Given the description of an element on the screen output the (x, y) to click on. 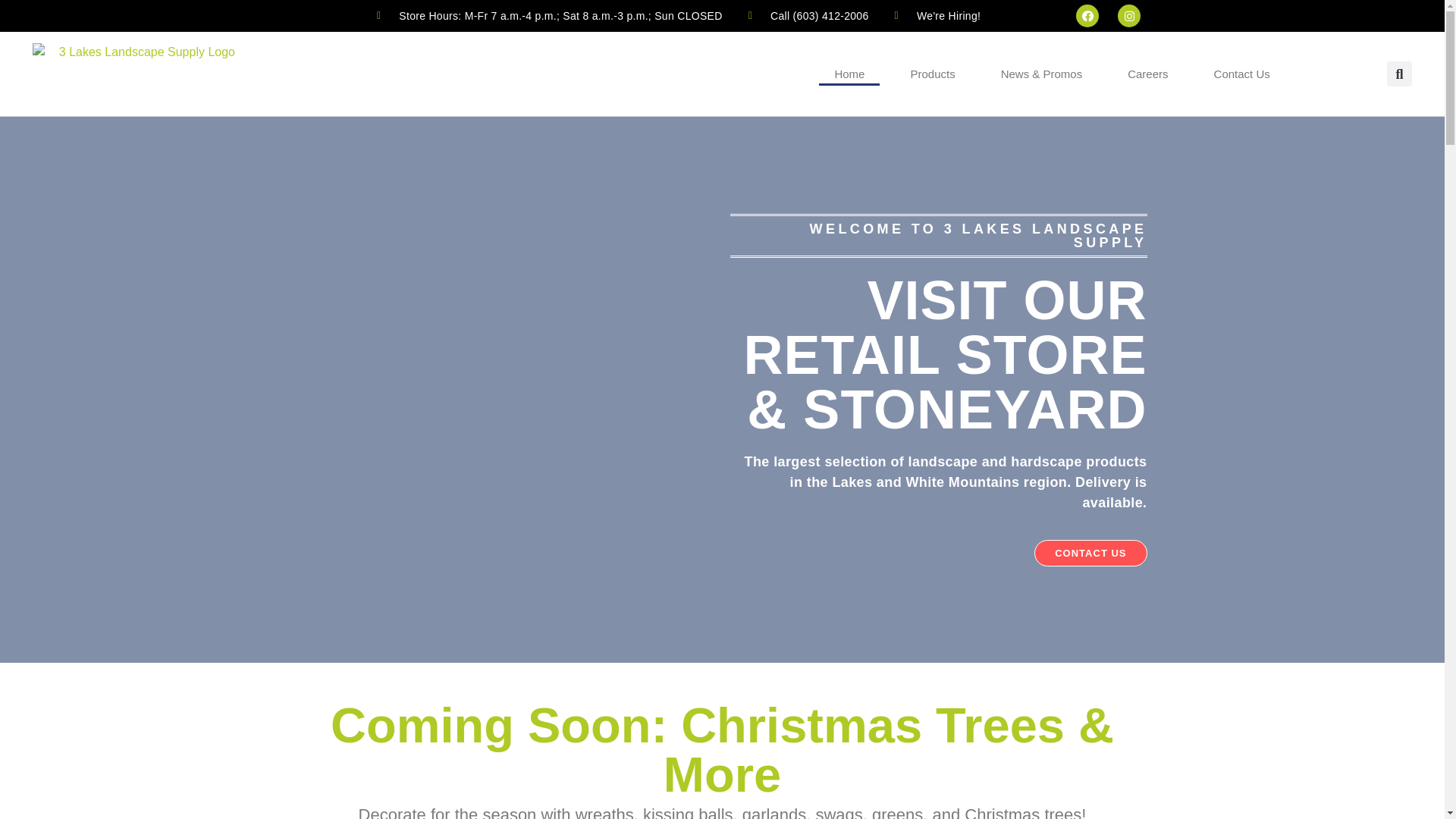
Call (603) 412-2006 Element type: text (806, 15)
News & Promos Element type: text (1041, 73)
Careers Element type: text (1147, 73)
Contact Us Element type: text (1241, 73)
We're Hiring! Element type: text (935, 15)
Products Element type: text (931, 73)
CONTACT US Element type: text (1090, 552)
Home Element type: text (849, 73)
